Given the description of an element on the screen output the (x, y) to click on. 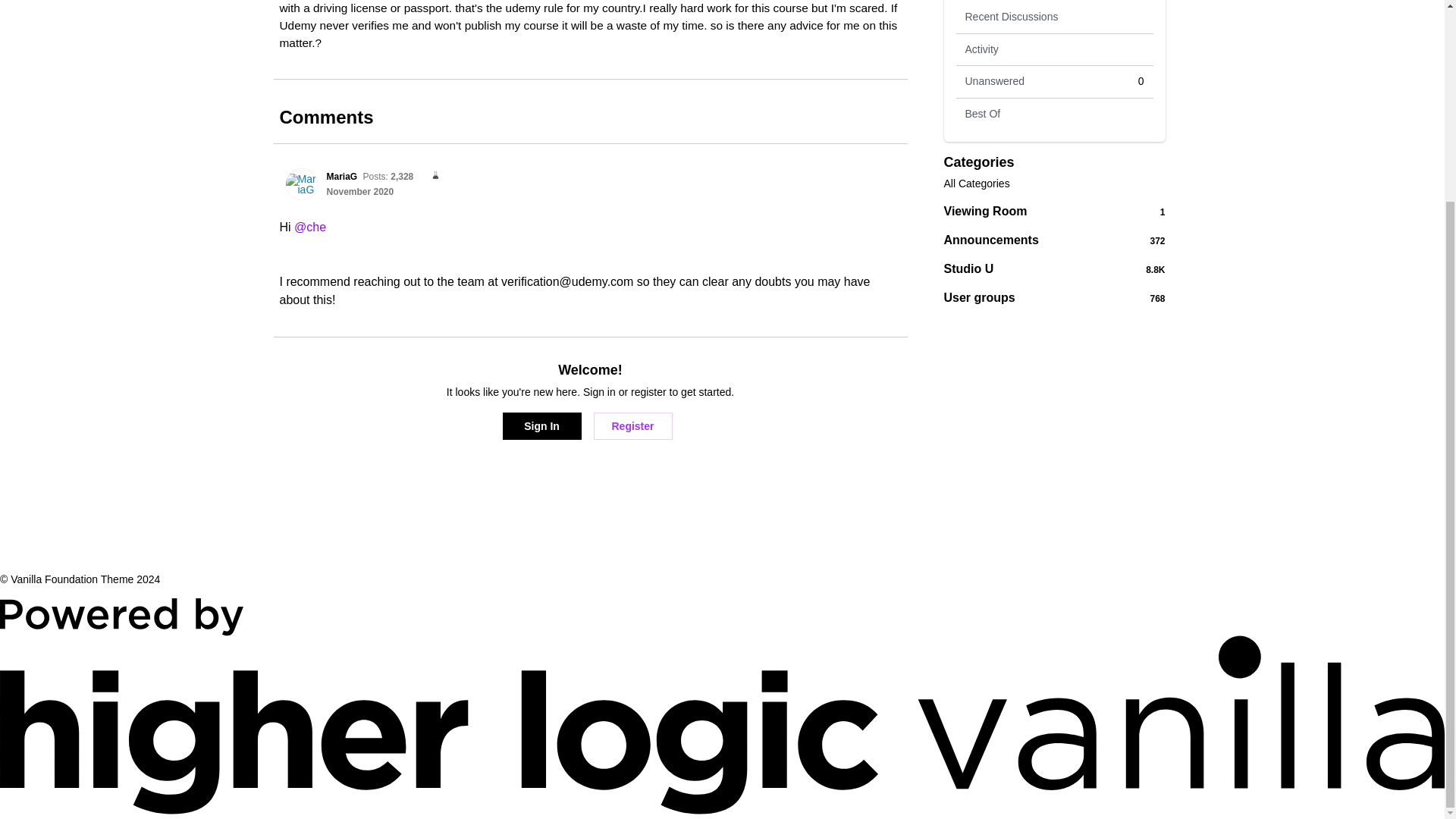
Sign In (541, 425)
Recent Discussions (1054, 17)
MariaG (341, 176)
Register (631, 425)
November 24, 2020 1:53AM (1053, 297)
Researcher (359, 191)
Sign In (431, 176)
372 discussions (541, 425)
